Given the description of an element on the screen output the (x, y) to click on. 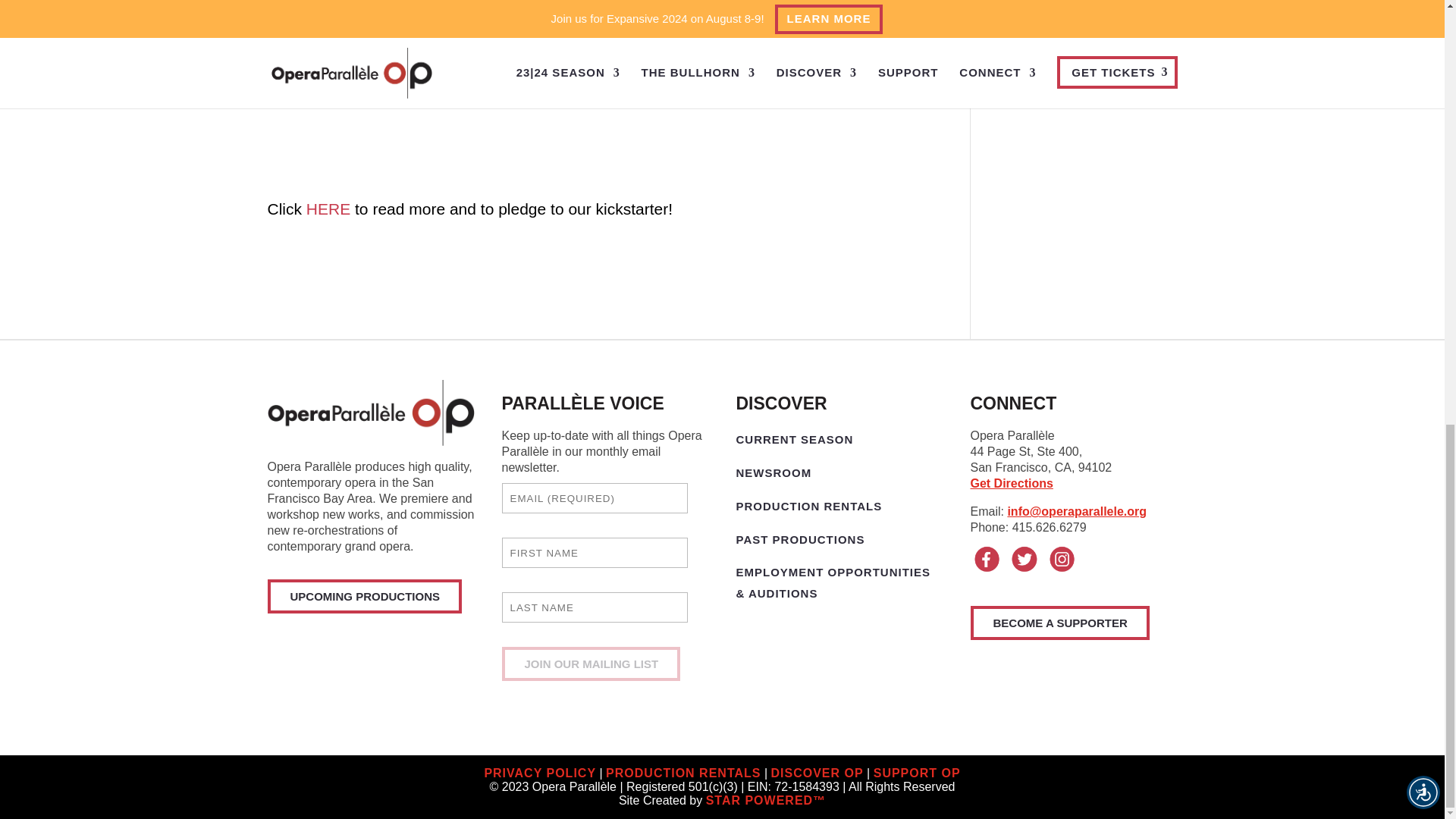
Kickstarter Heart of Darkness Art Installation (327, 208)
Join our mailing list (591, 663)
